Given the description of an element on the screen output the (x, y) to click on. 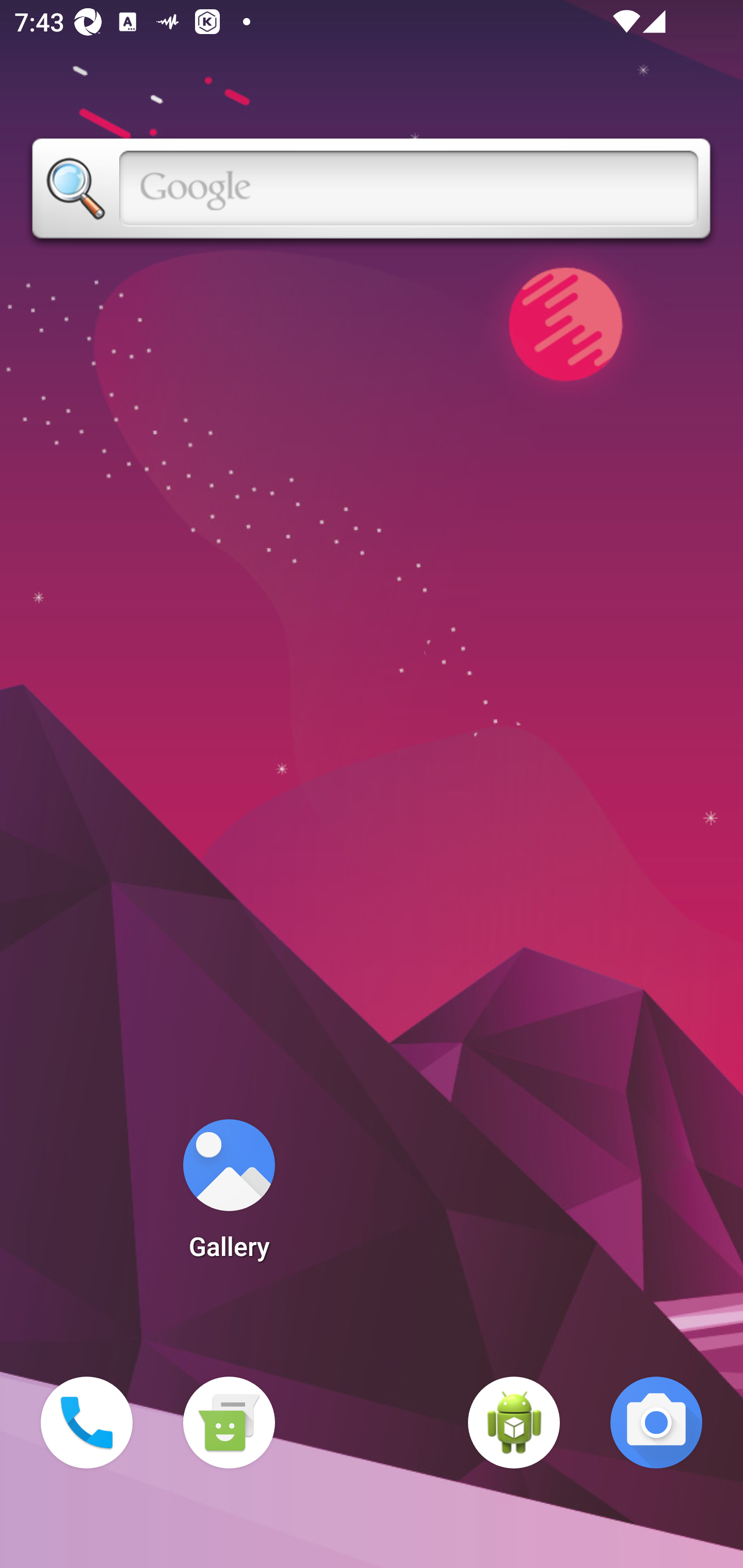
Gallery (228, 1195)
Phone (86, 1422)
Messaging (228, 1422)
WebView Browser Tester (513, 1422)
Camera (656, 1422)
